Given the description of an element on the screen output the (x, y) to click on. 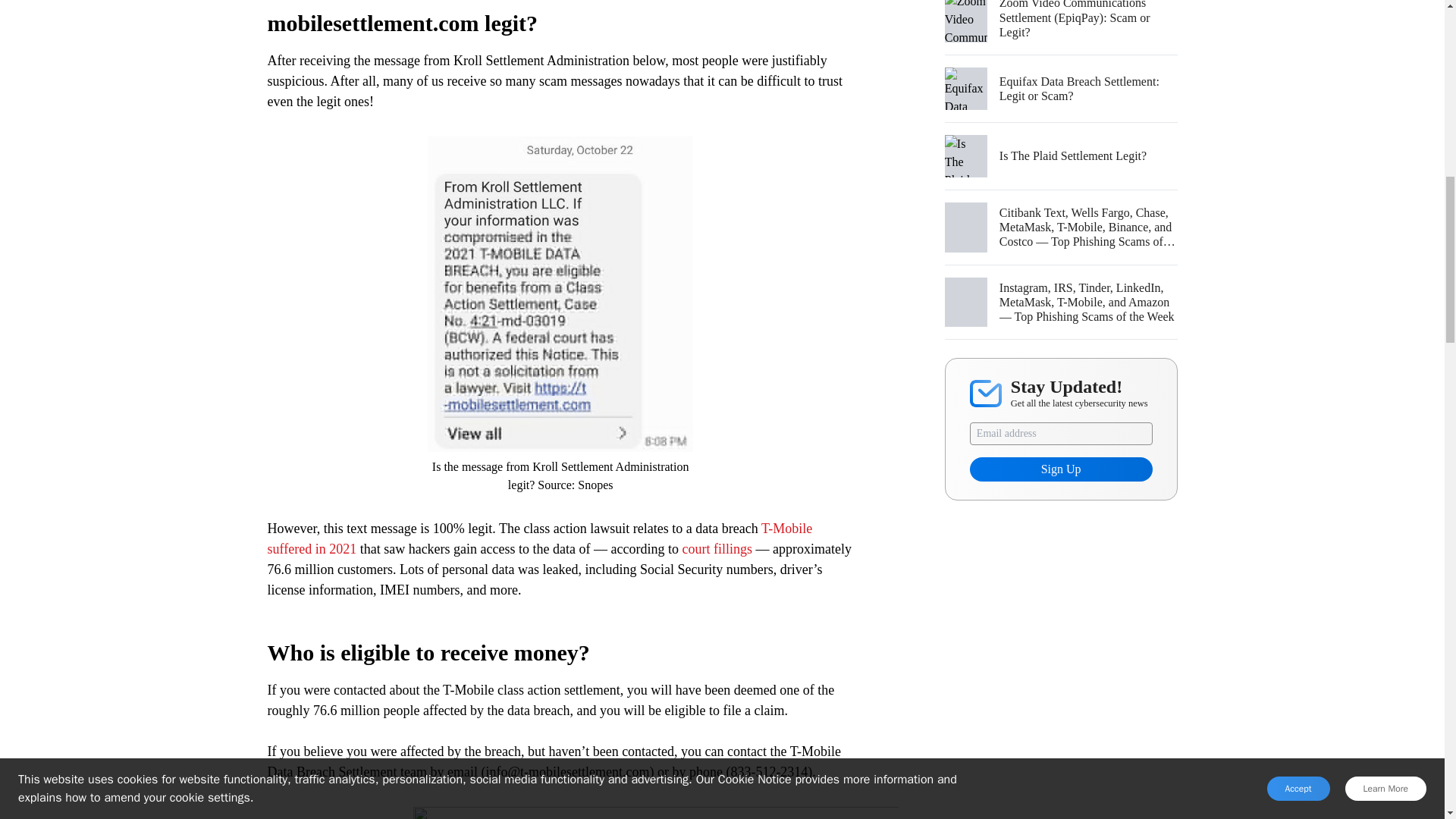
T-Mobile suffered in 2021 (539, 538)
Equifax Data Breach Settlement: Legit or Scam? (1087, 88)
court fillings (717, 548)
Is The Plaid Settlement Legit? (1087, 155)
